Given the description of an element on the screen output the (x, y) to click on. 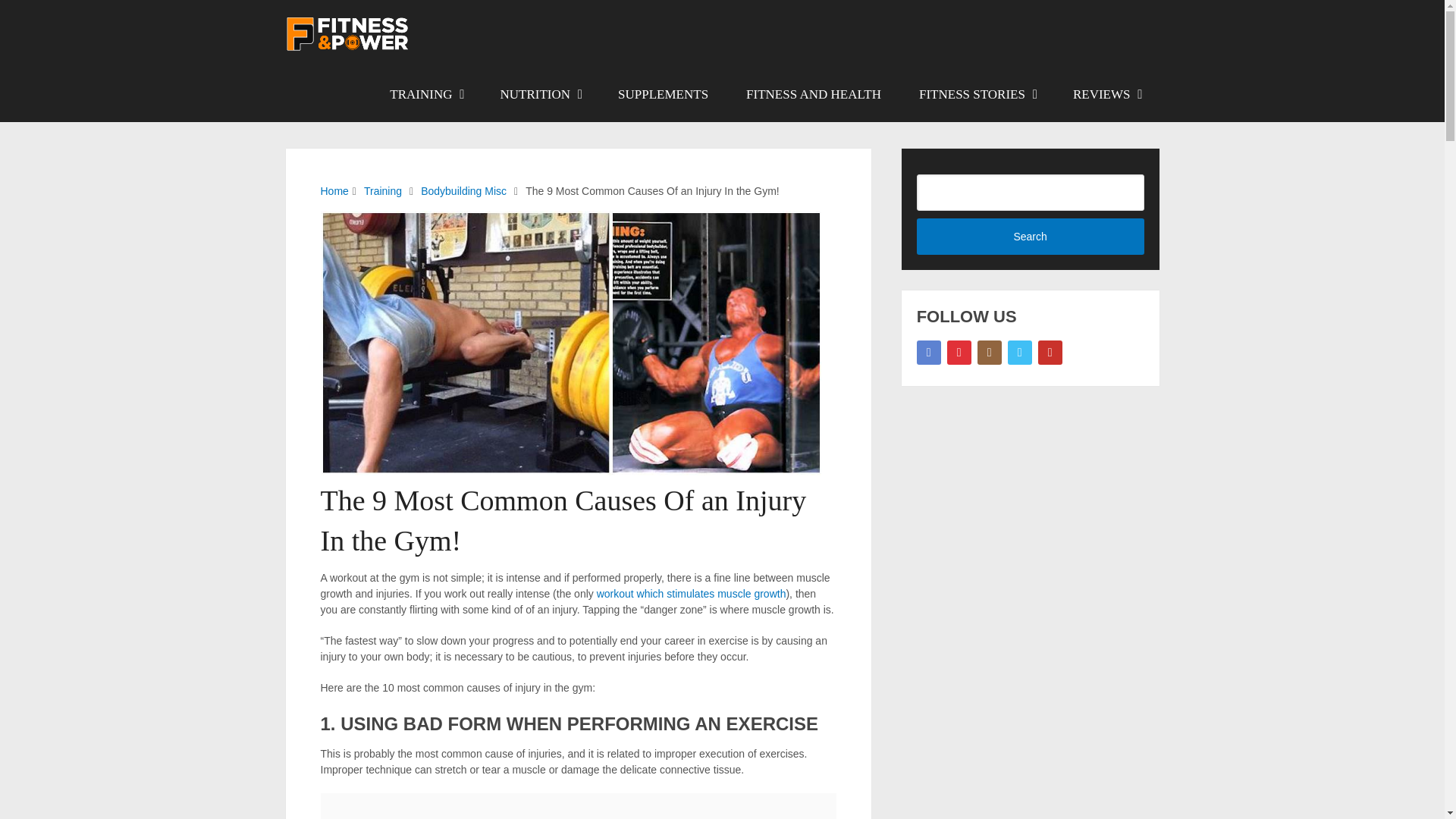
SUPPLEMENTS (662, 94)
TRAINING (425, 94)
REVIEWS (1106, 94)
FITNESS STORIES (976, 94)
FITNESS AND HEALTH (812, 94)
NUTRITION (540, 94)
